Given the description of an element on the screen output the (x, y) to click on. 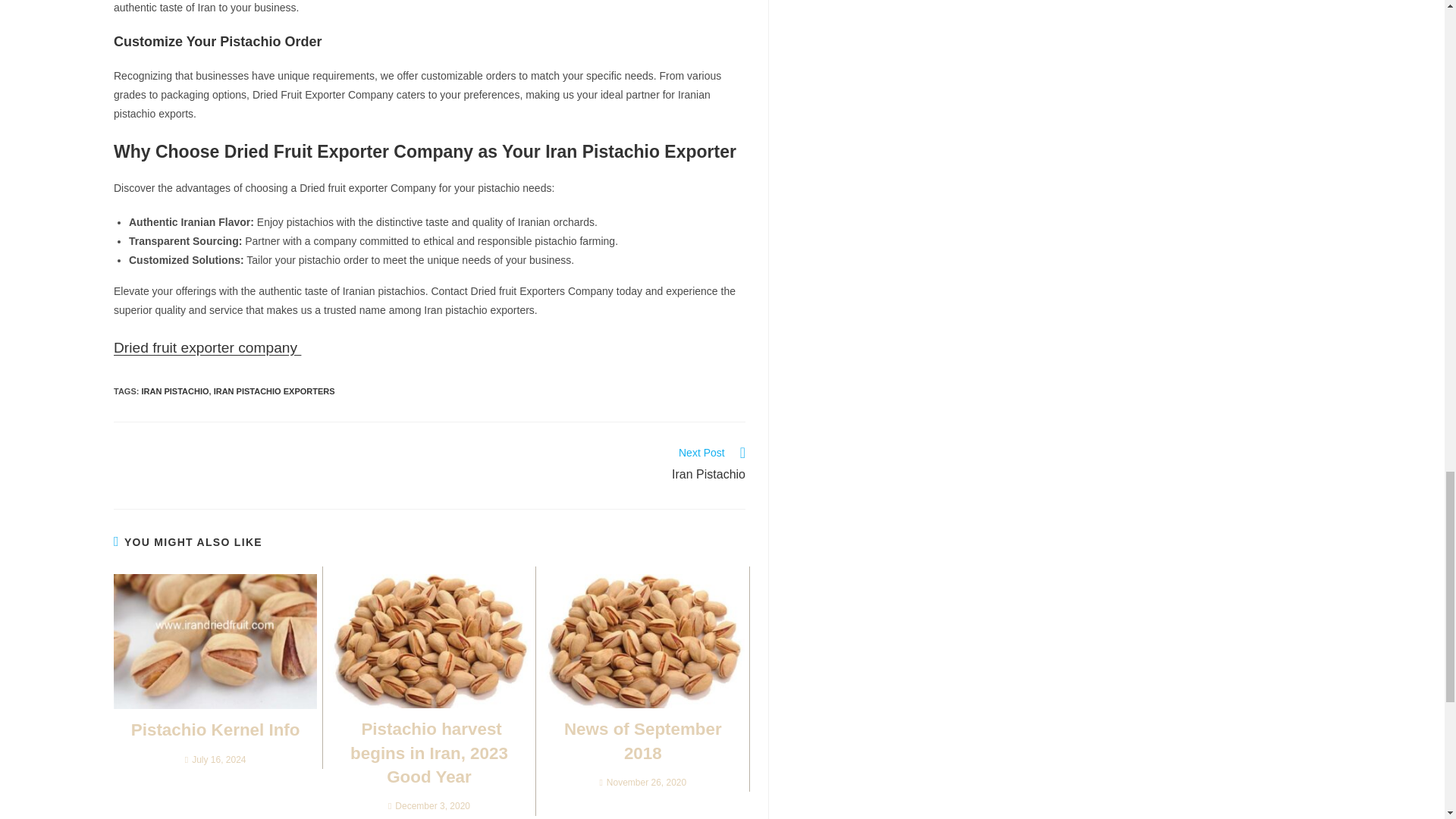
IRAN PISTACHIO EXPORTERS (274, 390)
News of September 2018 (642, 740)
Dried fruit exporter company  (594, 465)
Pistachio Kernel Info (207, 347)
Pistachio Kernel Info (214, 730)
 Pistachio harvest begins in Iran, 2023 Good Year (214, 730)
News of September 2018 (428, 752)
IRAN PISTACHIO (642, 740)
